Given the description of an element on the screen output the (x, y) to click on. 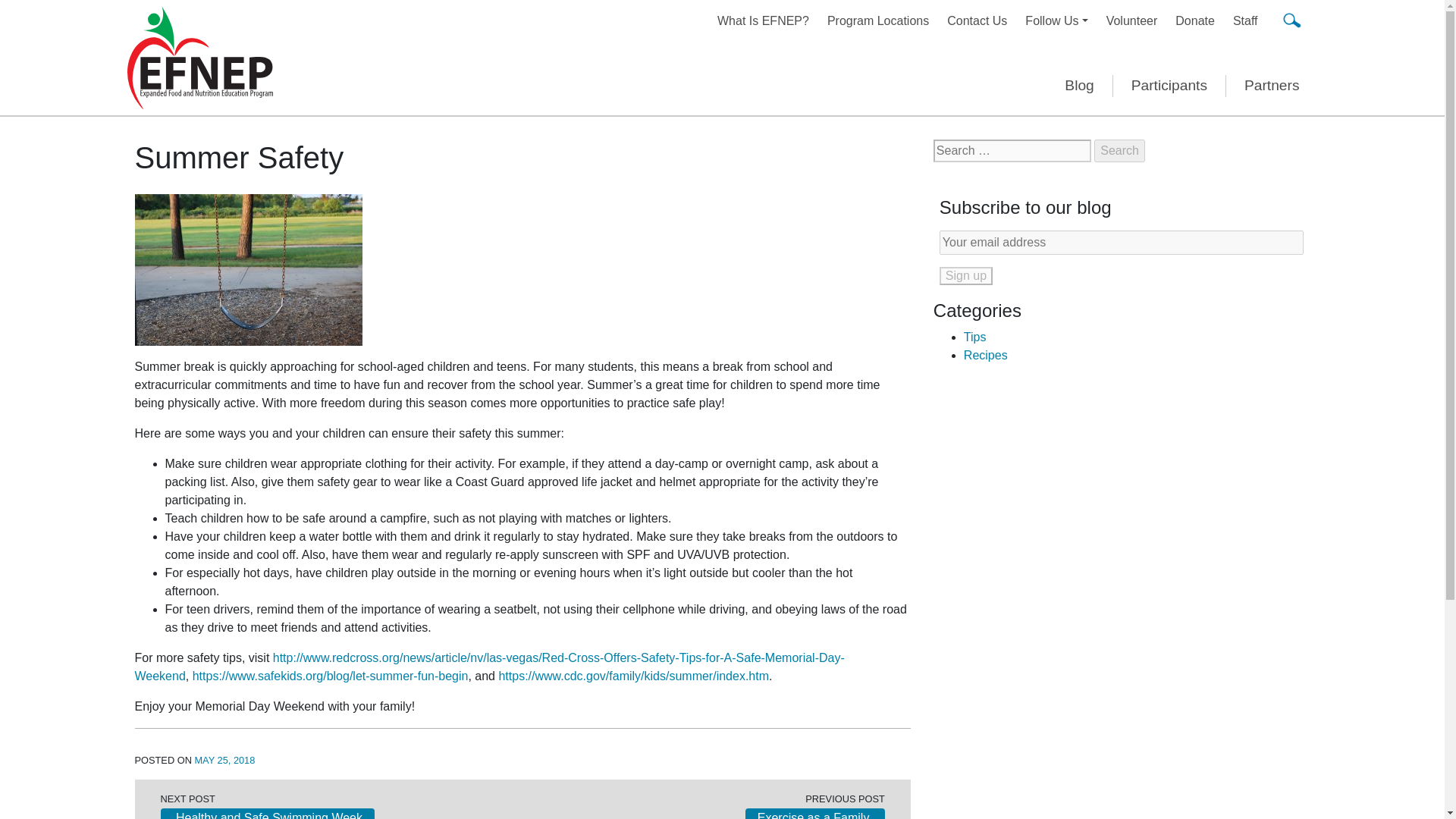
Donate (1195, 20)
What Is EFNEP? (762, 20)
Staff (1245, 20)
Follow Us (1056, 20)
Donate (1195, 20)
Blog (1079, 86)
Blog (1079, 86)
Partners (1271, 86)
Staff (1245, 20)
Participants (1169, 86)
